Given the description of an element on the screen output the (x, y) to click on. 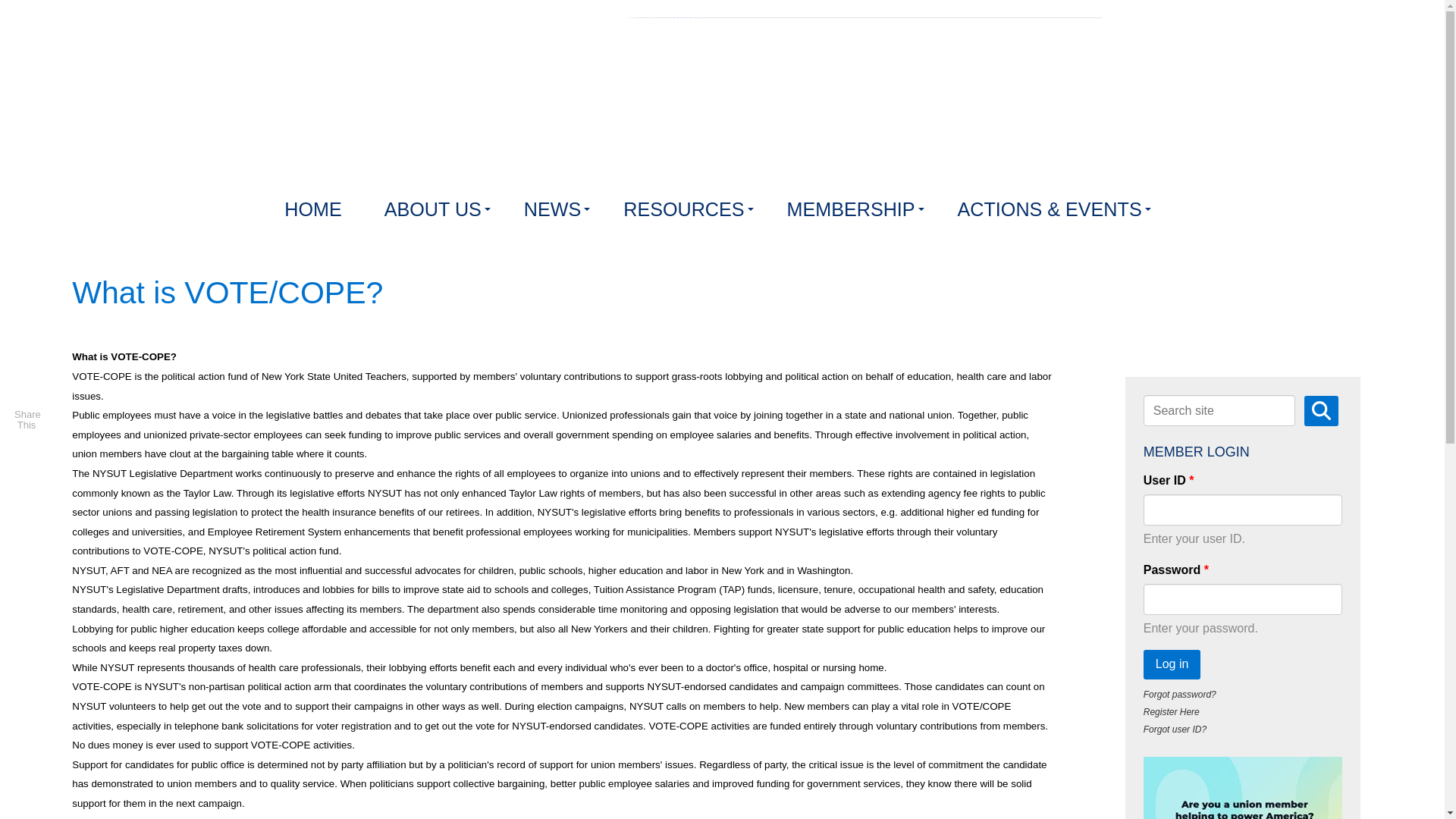
Register Here (1170, 711)
Search (1321, 410)
Forgot Your User ID. (1174, 728)
Forgot password? (1178, 694)
HOME (315, 209)
Search (1321, 410)
Log in (1171, 664)
Forgot user ID? (1174, 728)
Log in (1171, 664)
